Given the description of an element on the screen output the (x, y) to click on. 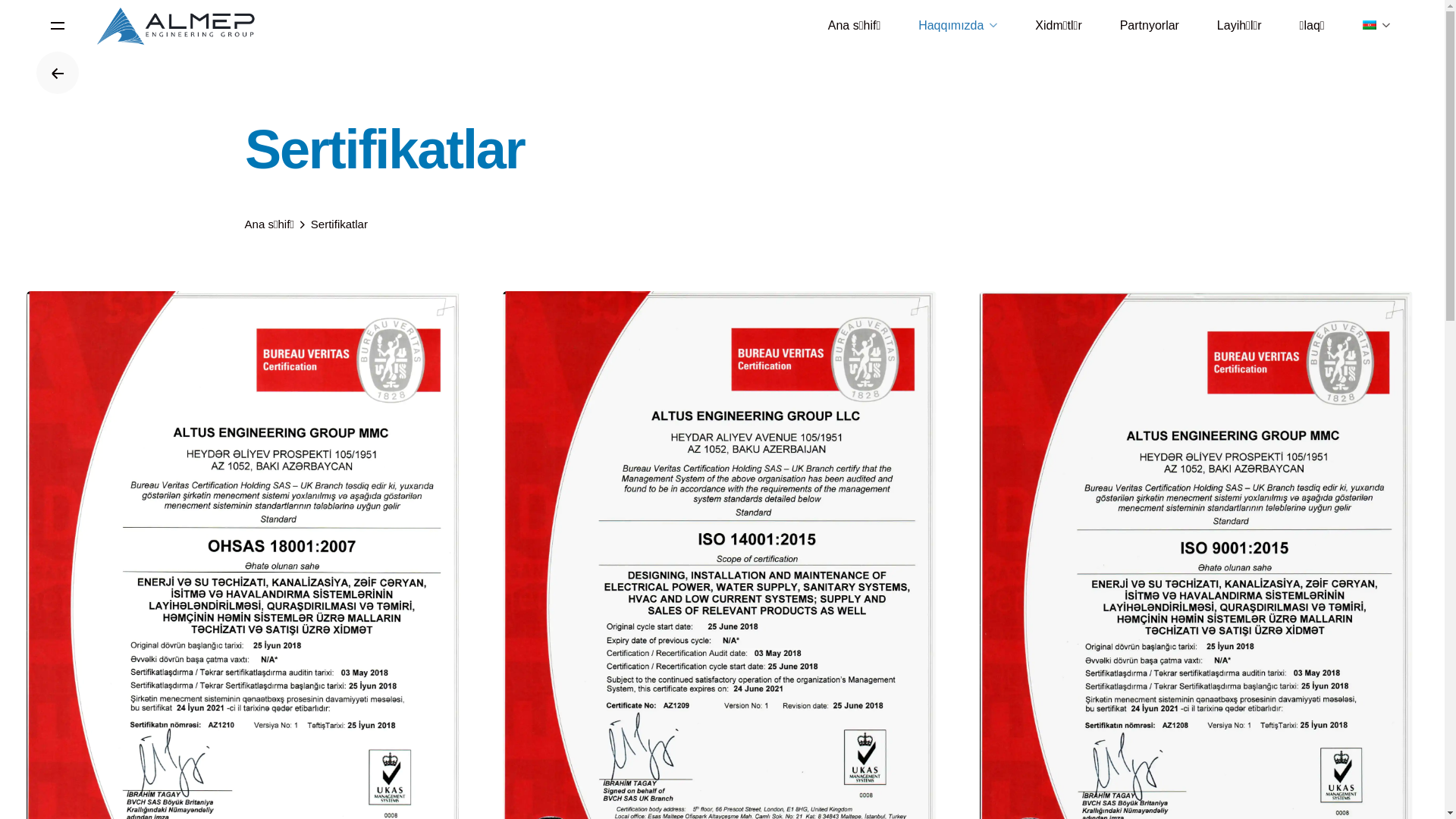
Partnyorlar Element type: text (1149, 26)
